Given the description of an element on the screen output the (x, y) to click on. 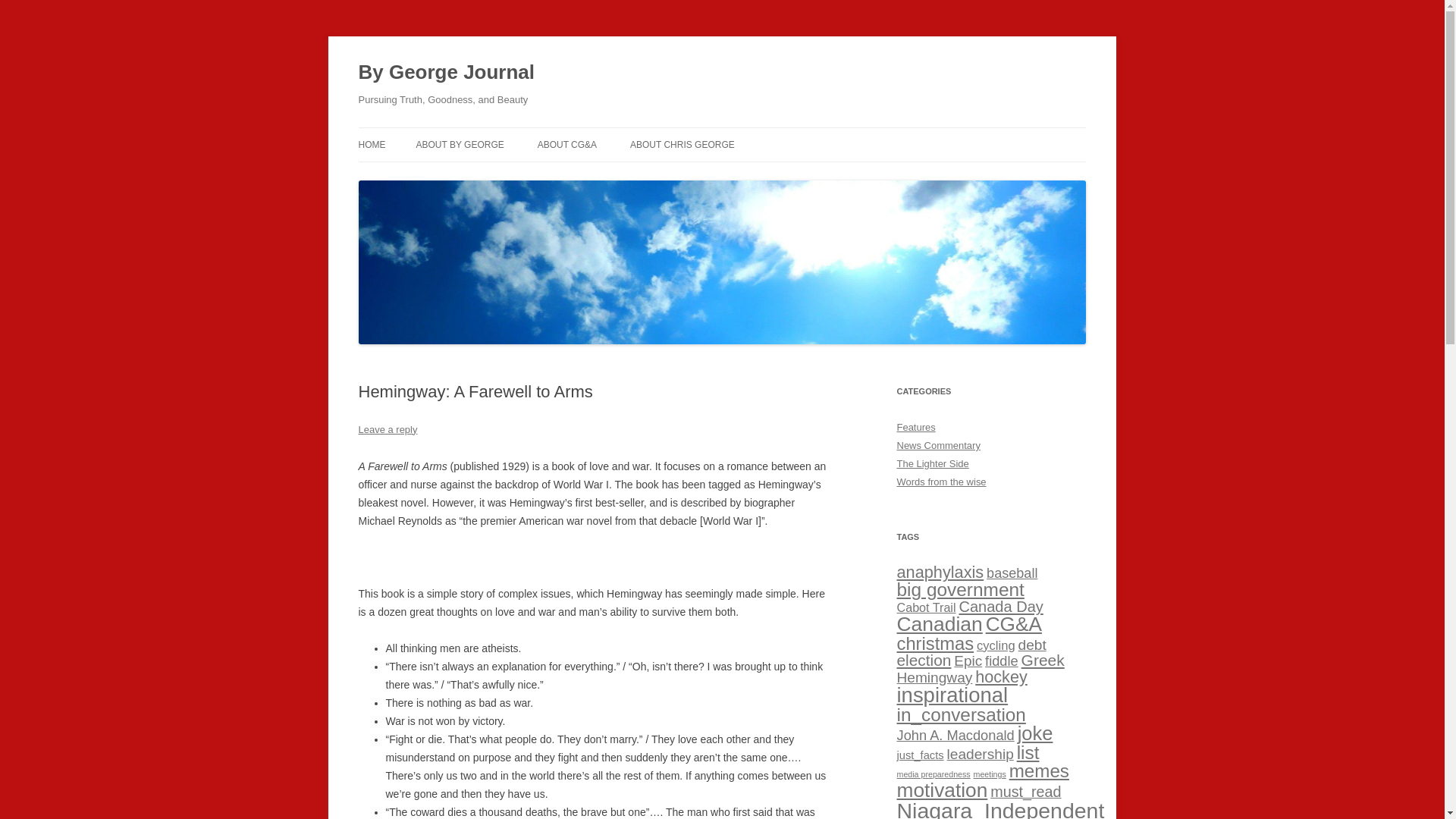
The Lighter Side (932, 463)
cycling (995, 645)
Epic (967, 660)
christmas (935, 643)
fiddle (1001, 660)
ABOUT BY GEORGE (458, 144)
Canada Day (1000, 606)
baseball (1011, 572)
hockey (1001, 676)
News Commentary (937, 445)
Leave a reply (387, 429)
Features (915, 427)
Hemingway (934, 677)
